Given the description of an element on the screen output the (x, y) to click on. 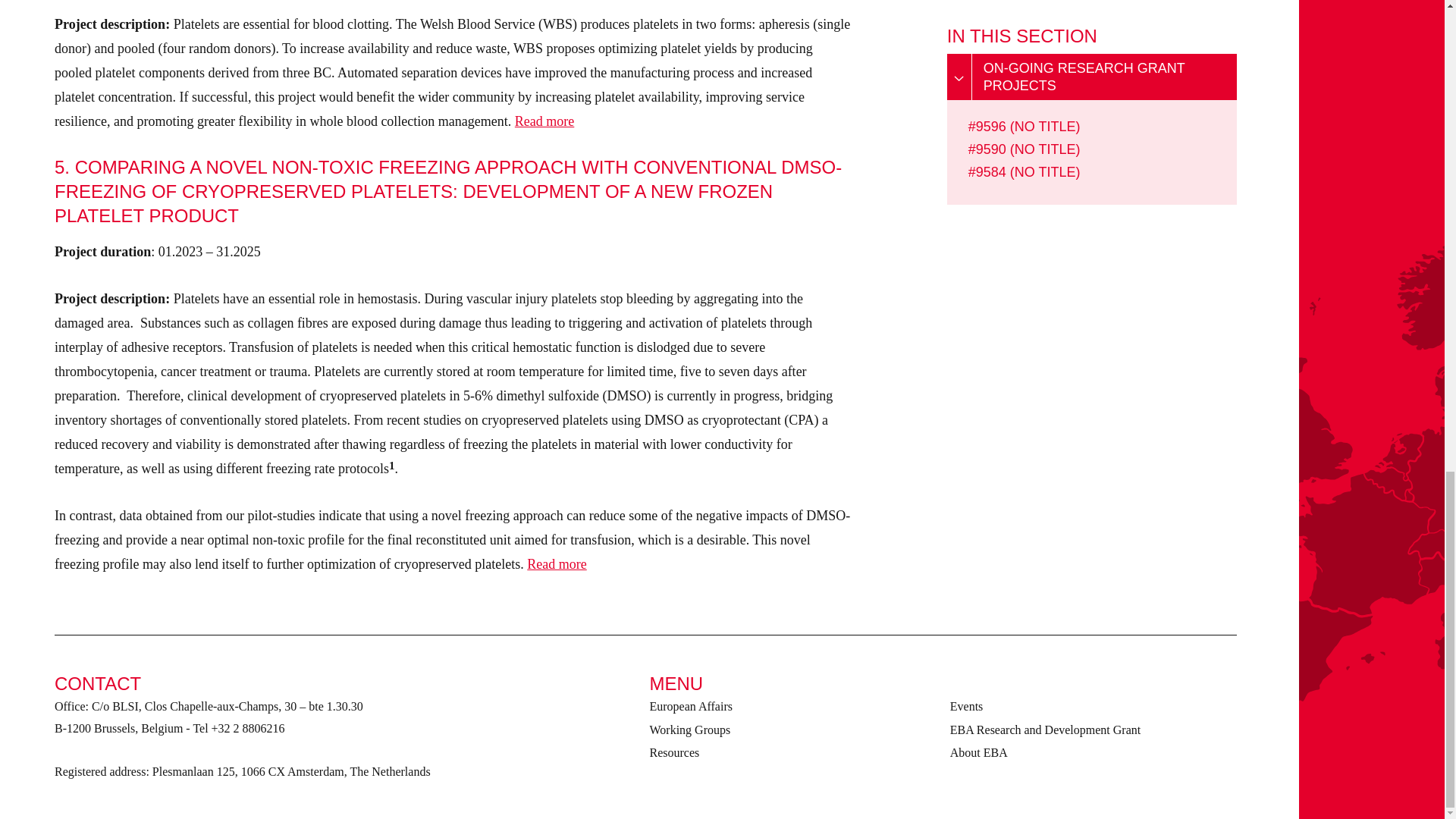
Read more (544, 120)
Read more (556, 563)
Events (967, 706)
European Affairs (690, 706)
EBA Research and Development Grant (1045, 729)
Working Groups (689, 729)
Resources (673, 752)
About EBA (978, 752)
